Given the description of an element on the screen output the (x, y) to click on. 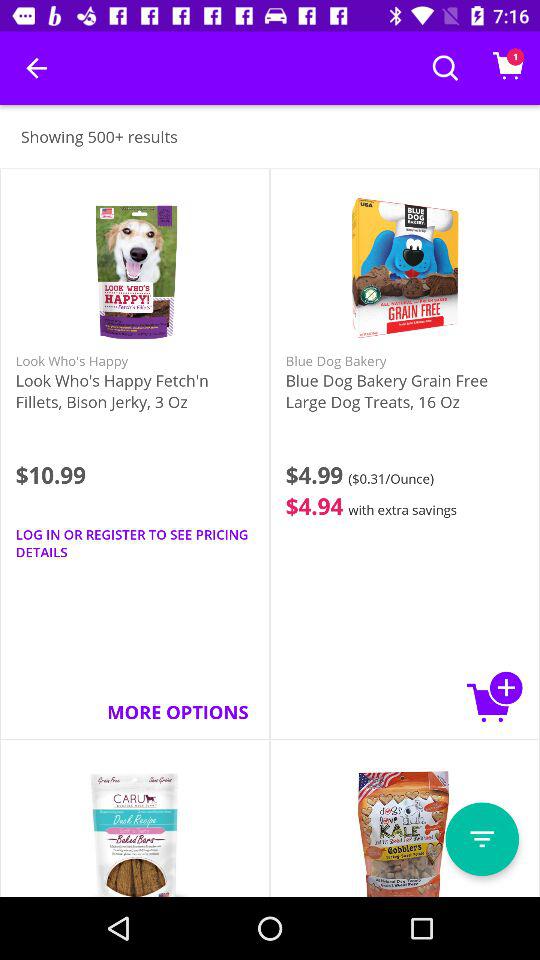
open icon below $10.99 (134, 543)
